Given the description of an element on the screen output the (x, y) to click on. 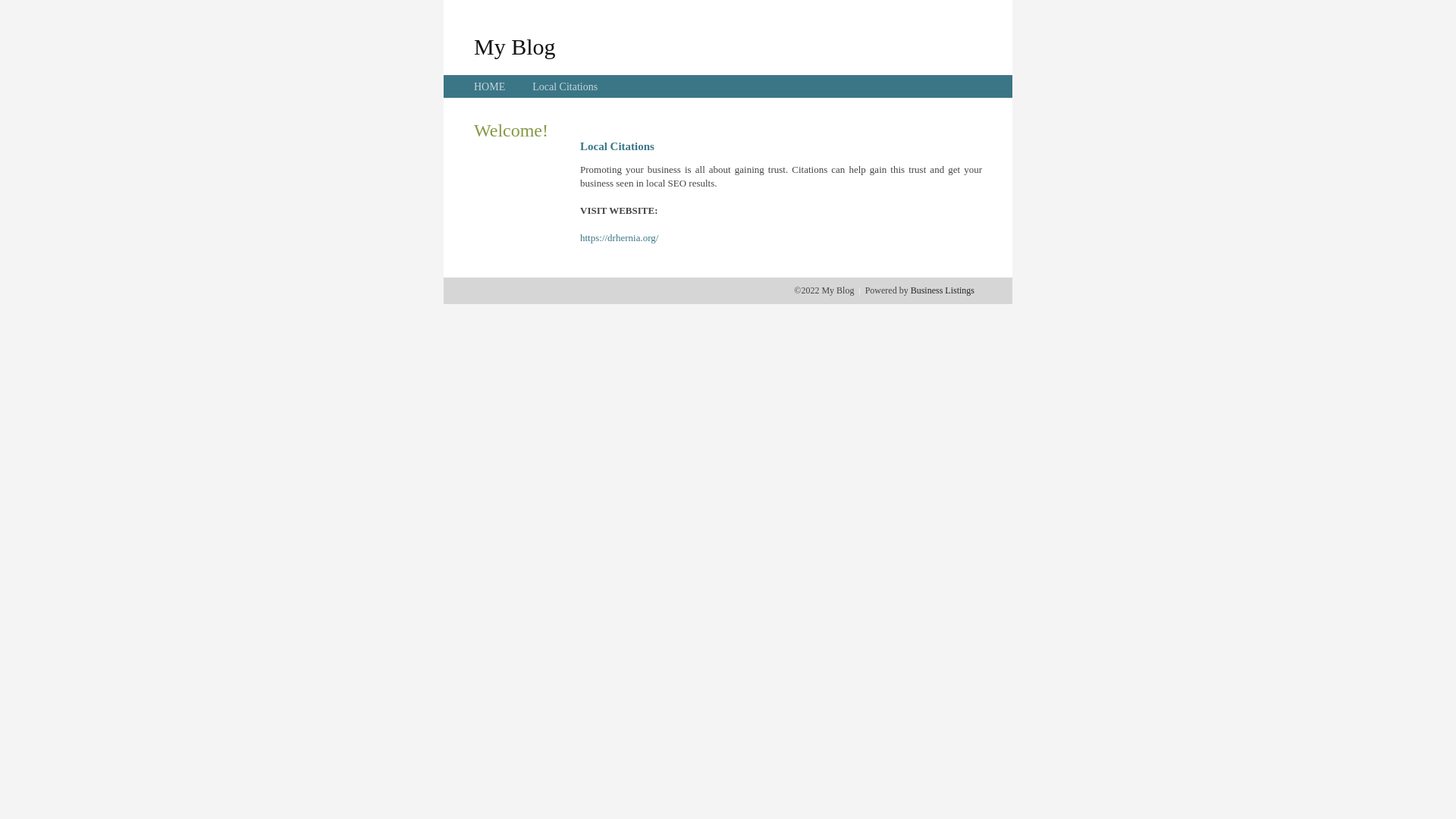
https://drhernia.org/ Element type: text (619, 237)
Business Listings Element type: text (942, 290)
Local Citations Element type: text (564, 86)
HOME Element type: text (489, 86)
My Blog Element type: text (514, 46)
